Given the description of an element on the screen output the (x, y) to click on. 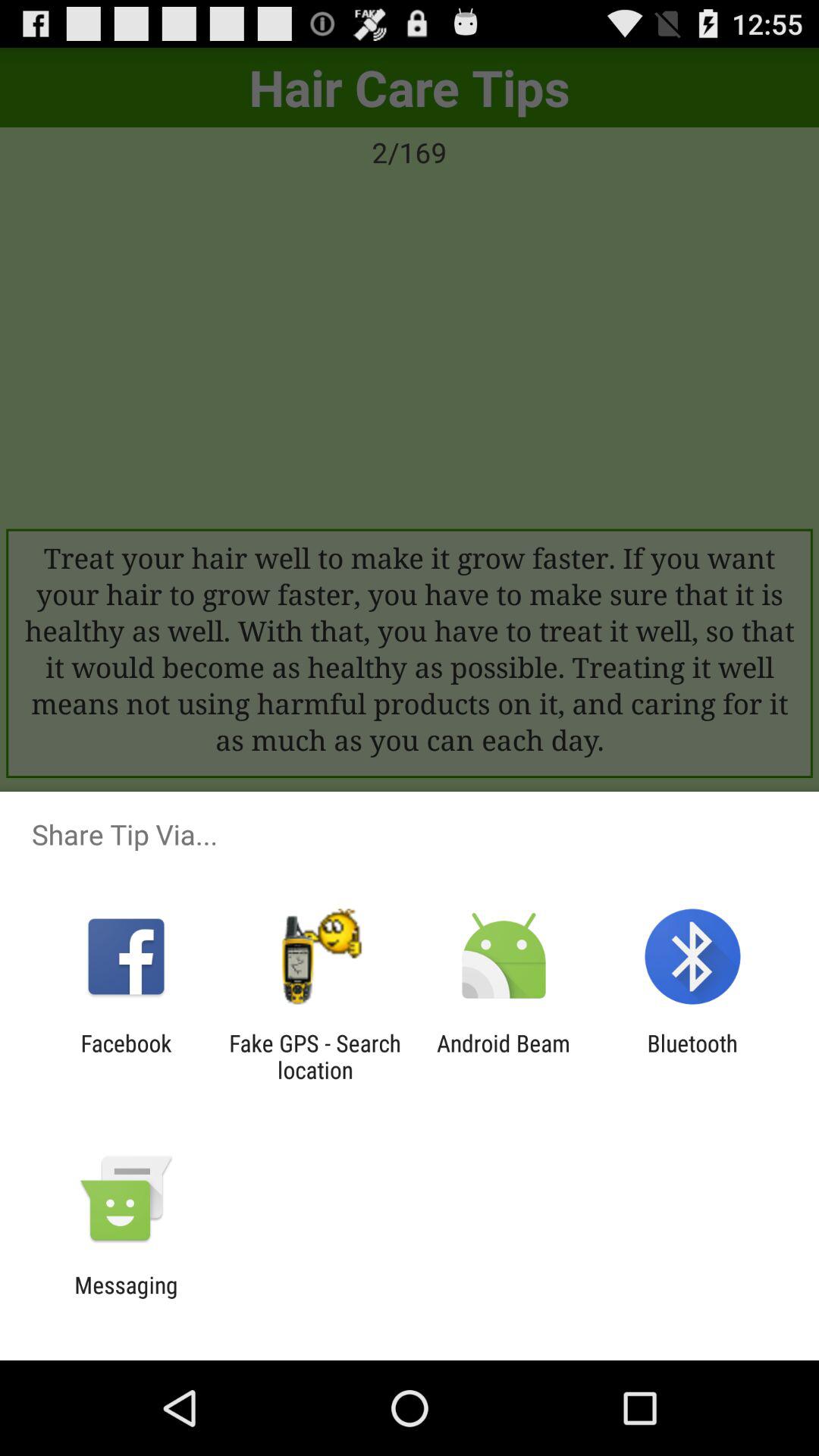
choose the item next to the android beam icon (692, 1056)
